Given the description of an element on the screen output the (x, y) to click on. 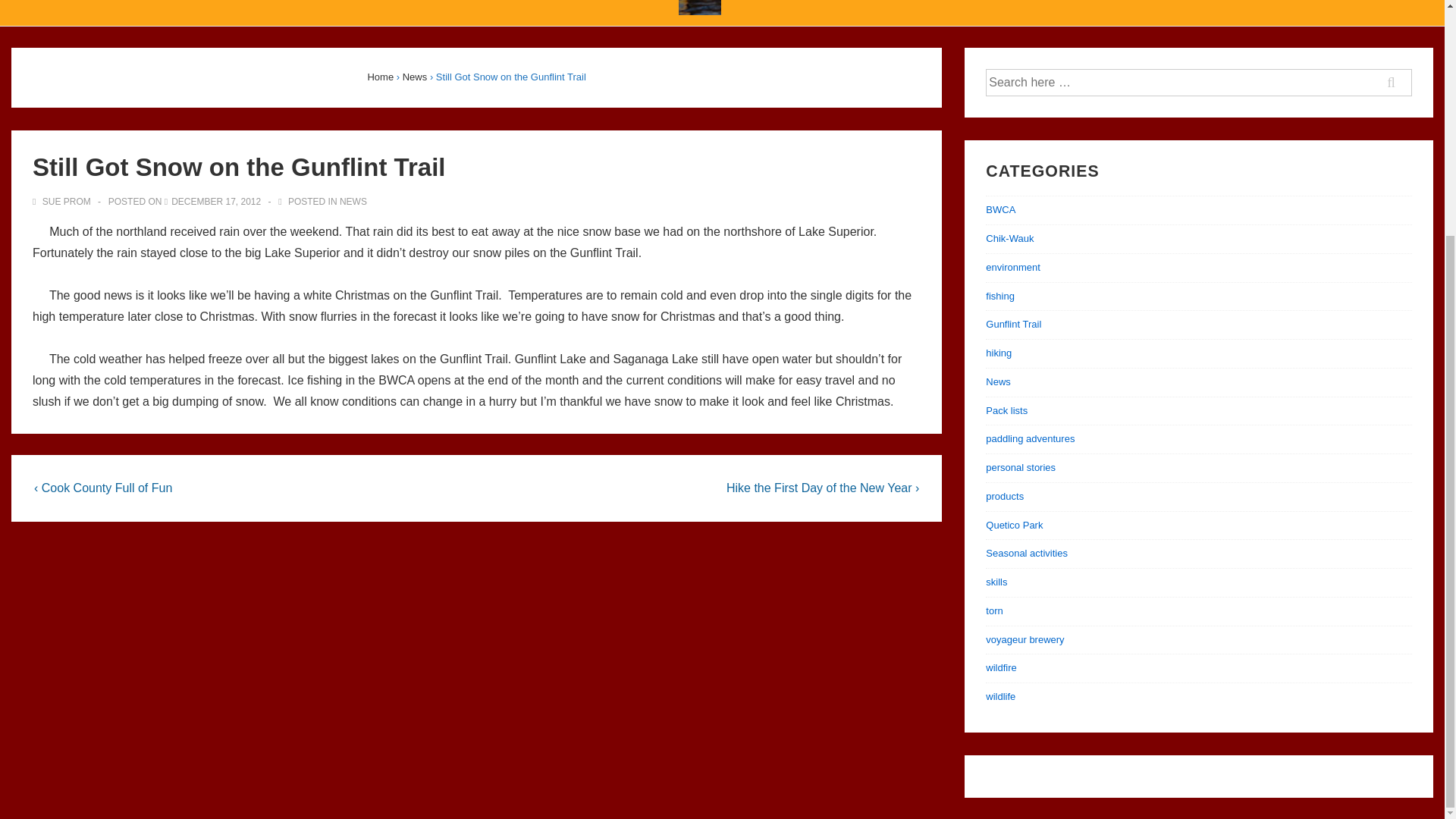
products (1004, 496)
voyageur brewery (1024, 639)
environment (1013, 266)
News (997, 381)
Seasonal activities (1026, 552)
torn (994, 610)
News (415, 76)
paddling adventures (1029, 438)
personal stories (1020, 467)
wildfire (1000, 667)
